Given the description of an element on the screen output the (x, y) to click on. 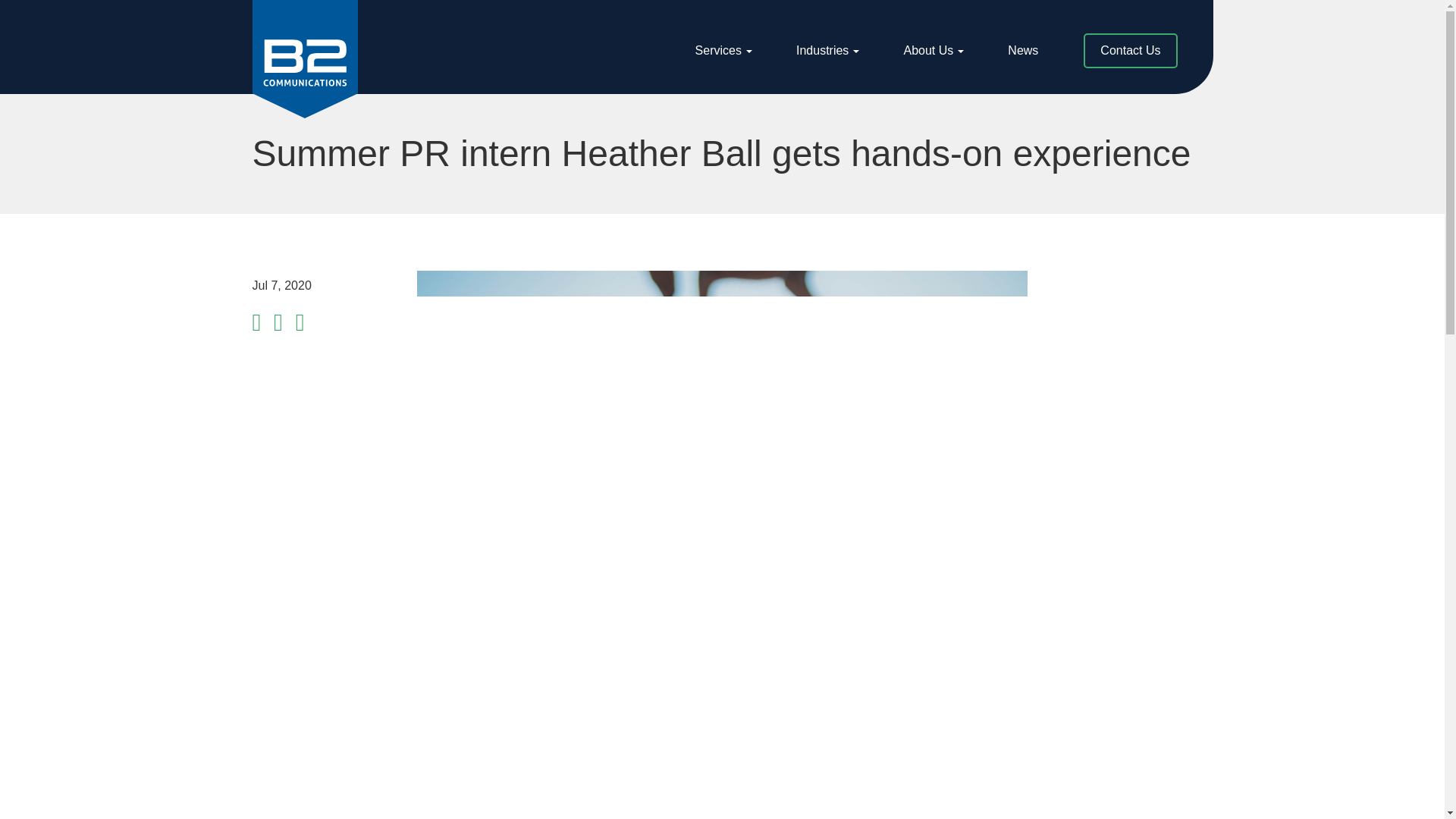
Industries (826, 50)
About Us (936, 50)
Services (932, 50)
Contact Us (723, 50)
